Given the description of an element on the screen output the (x, y) to click on. 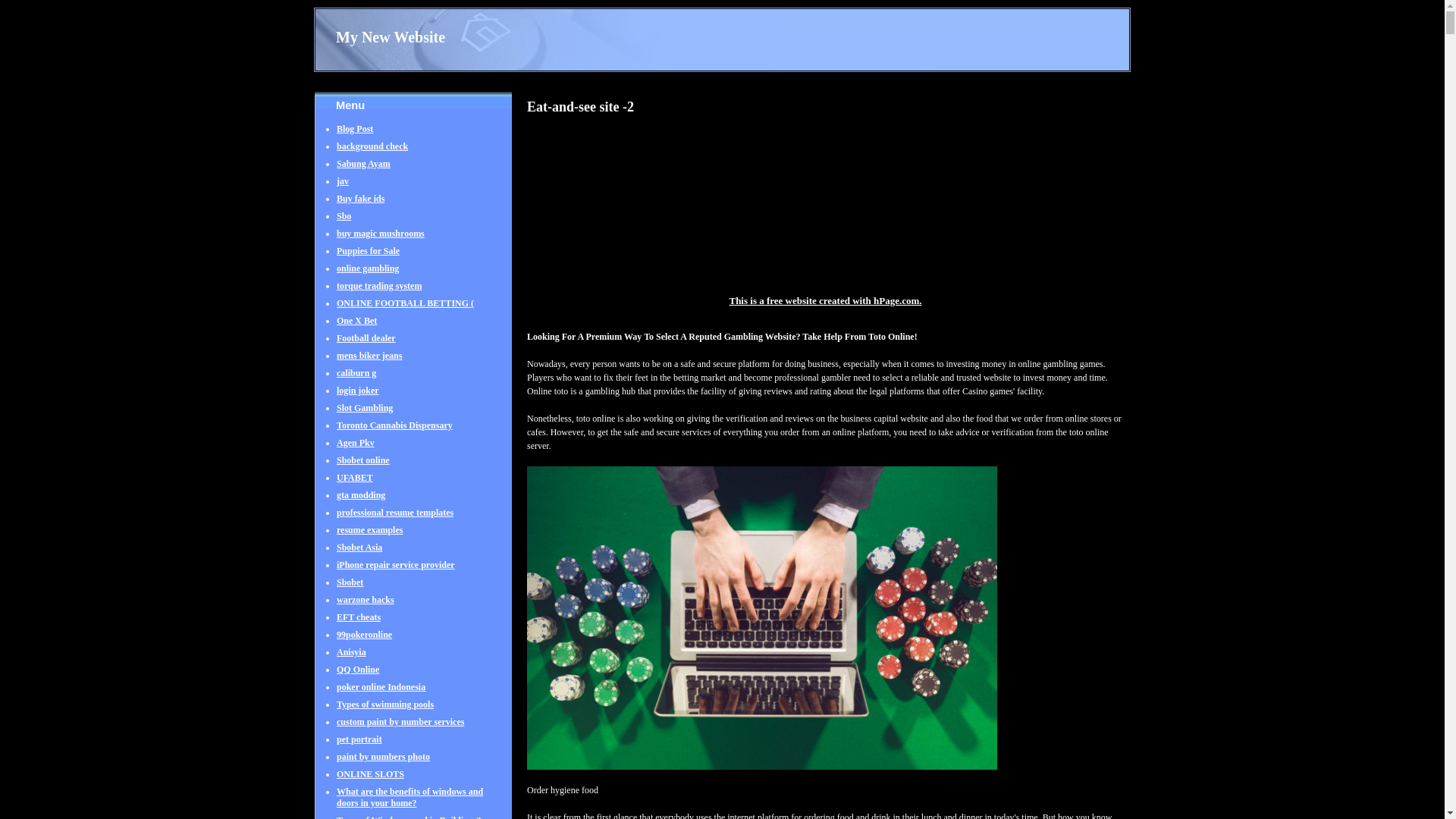
ONLINE SLOTS (370, 781)
Football dealer (366, 345)
custom paint by number services (400, 729)
Blog Post (354, 136)
Puppies for Sale (367, 258)
paint by numbers photo (382, 764)
Sbobet online (363, 467)
Agen Pkv (355, 450)
gta modding (360, 502)
torque trading system (379, 293)
Sbobet Asia (358, 555)
Slot Gambling (364, 415)
professional resume templates (394, 519)
What are the benefits of windows and doors in your home? (409, 802)
resume examples (369, 537)
